Given the description of an element on the screen output the (x, y) to click on. 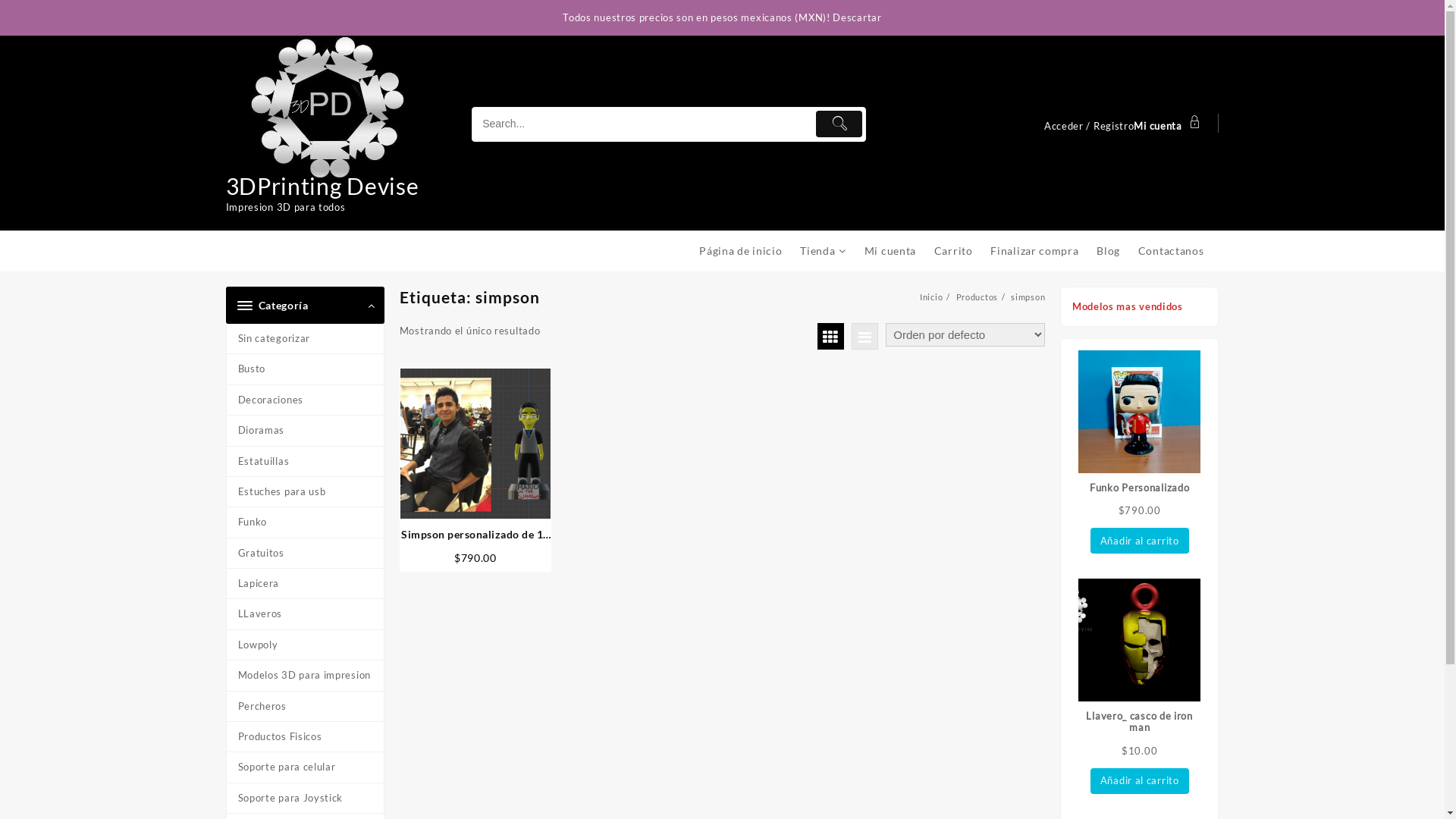
LLaveros Element type: text (304, 614)
Sin categorizar Element type: text (304, 338)
Simpson personalizado de 10 cm Element type: text (475, 534)
Estatuillas Element type: text (304, 461)
Productos Fisicos Element type: text (304, 736)
Estuches para usb Element type: text (304, 491)
Decoraciones Element type: text (304, 400)
Soporte para celular Element type: text (304, 767)
Lapicera Element type: text (304, 583)
Percheros Element type: text (304, 706)
Tienda Element type: text (830, 250)
Modelos 3D para impresion Element type: text (304, 675)
Mi cuenta Element type: text (897, 250)
3DPrinting Devise Element type: text (322, 185)
Funko Element type: text (304, 522)
Vista de lista Element type: hover (864, 336)
Gratuitos Element type: text (304, 553)
Descartar Element type: text (856, 17)
Funko Personalizado Element type: text (1139, 421)
Contactanos Element type: text (1178, 250)
Busto Element type: text (304, 369)
Lowpoly Element type: text (304, 645)
Submit Element type: text (838, 123)
Soporte para Joystick Element type: text (304, 798)
Llavero_ casco de iron man Element type: text (1139, 656)
Inicio Element type: text (930, 296)
Dioramas Element type: text (304, 430)
Search Element type: hover (642, 124)
Acceder / RegistroMi cuenta Element type: text (1124, 123)
Finalizar compra Element type: text (1041, 250)
Blog Element type: text (1115, 250)
Carrito Element type: text (961, 250)
Productos Element type: text (976, 296)
